Given the description of an element on the screen output the (x, y) to click on. 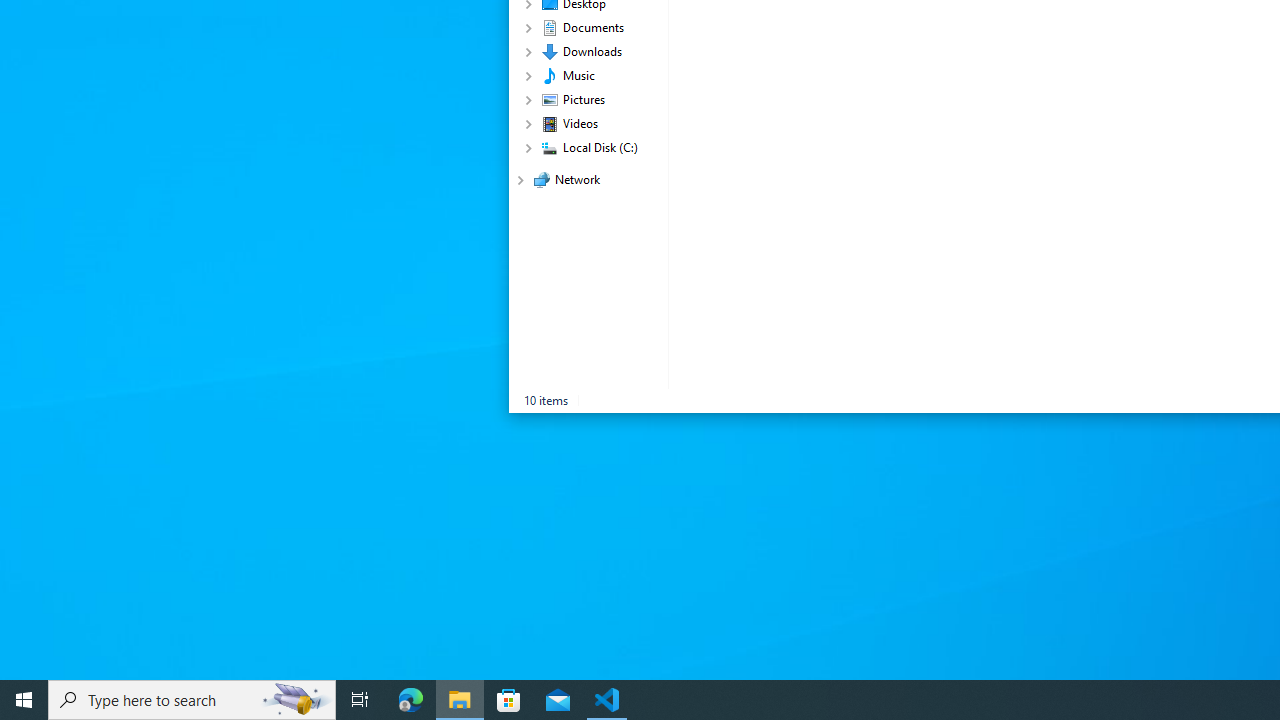
File Explorer - 1 running window (460, 699)
